Given the description of an element on the screen output the (x, y) to click on. 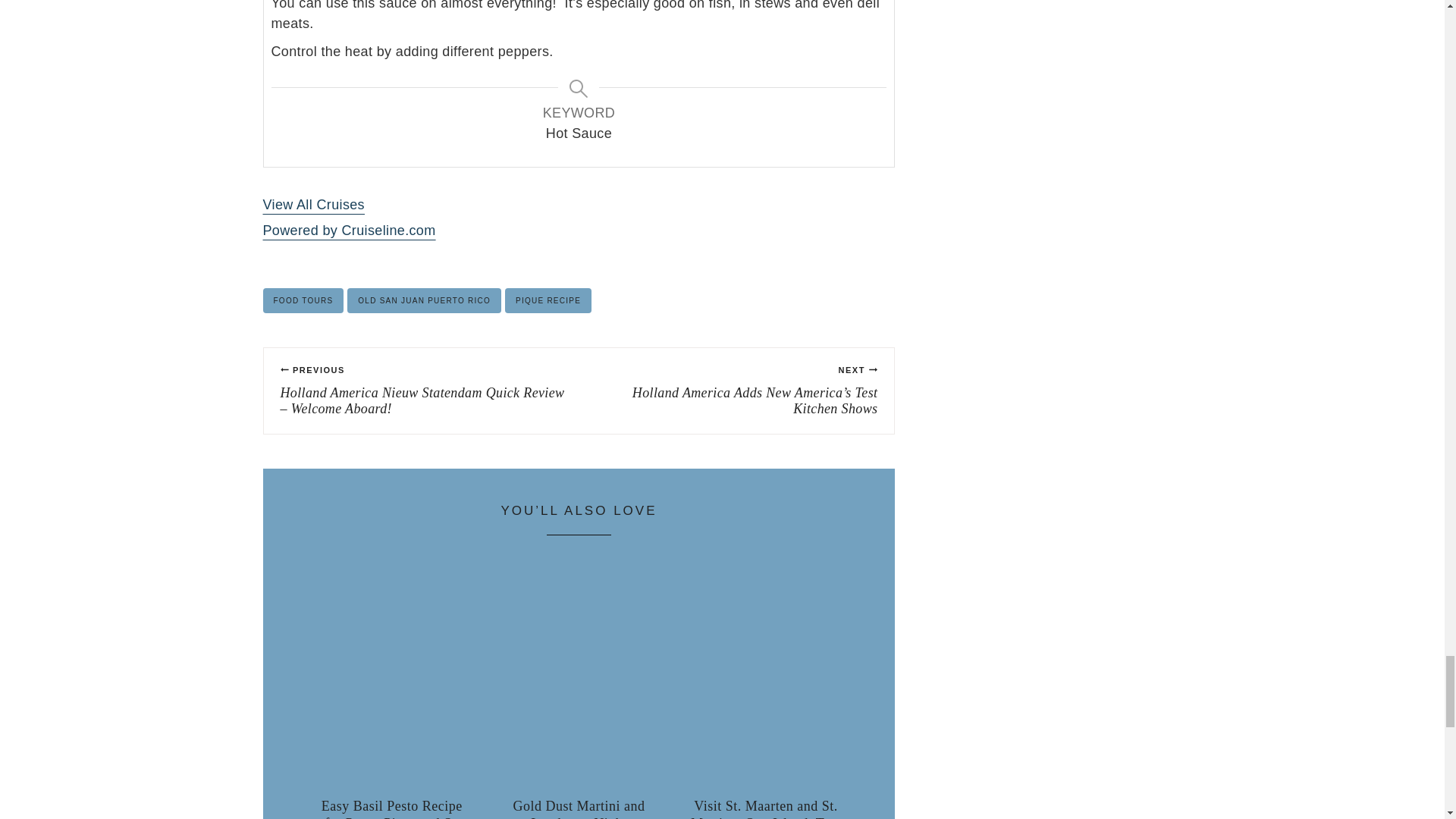
pique recipe (548, 300)
Food Tours (302, 300)
Old San Juan Puerto Rico (423, 300)
